Given the description of an element on the screen output the (x, y) to click on. 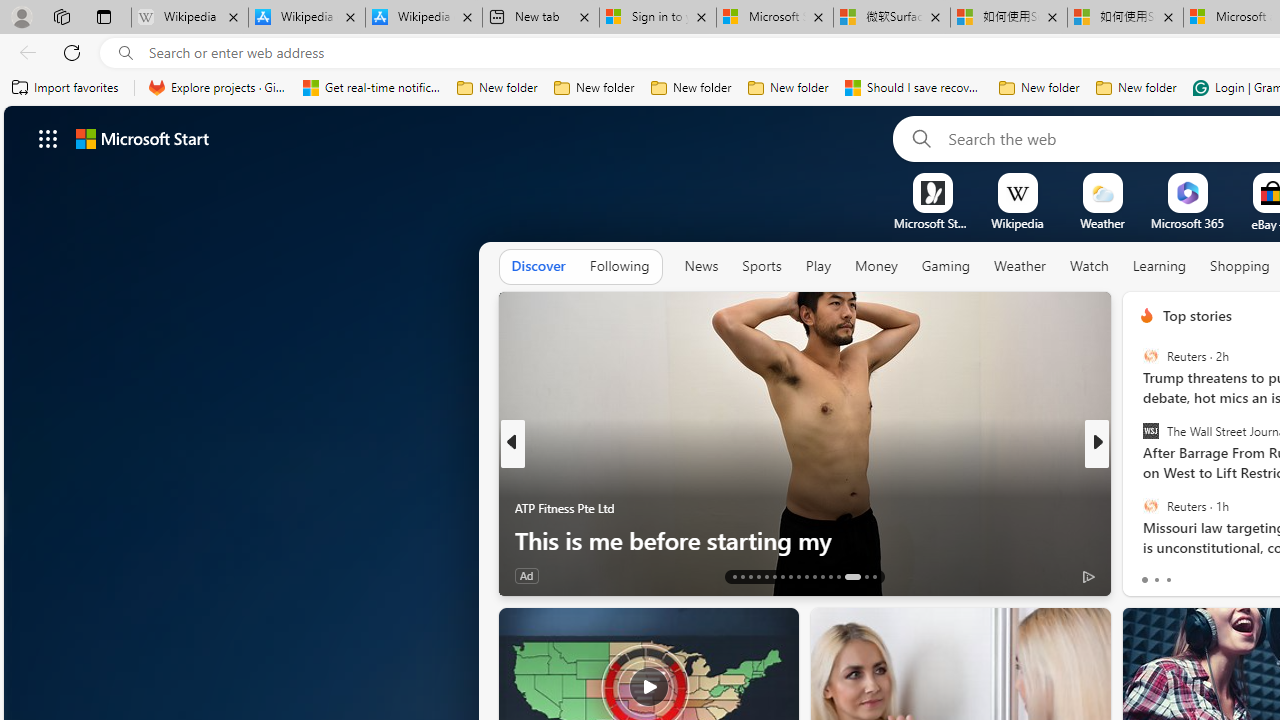
Money (876, 267)
More Options (1219, 179)
Wikipedia - Sleeping (189, 17)
AutomationID: tab-23 (814, 576)
Microsoft Services Agreement (774, 17)
Start the conversation (1222, 574)
tab-0 (1143, 579)
Should I save recovered Word documents? - Microsoft Support (913, 88)
Dislike (1185, 574)
You're following Newsweek (445, 579)
Money (875, 265)
